Given the description of an element on the screen output the (x, y) to click on. 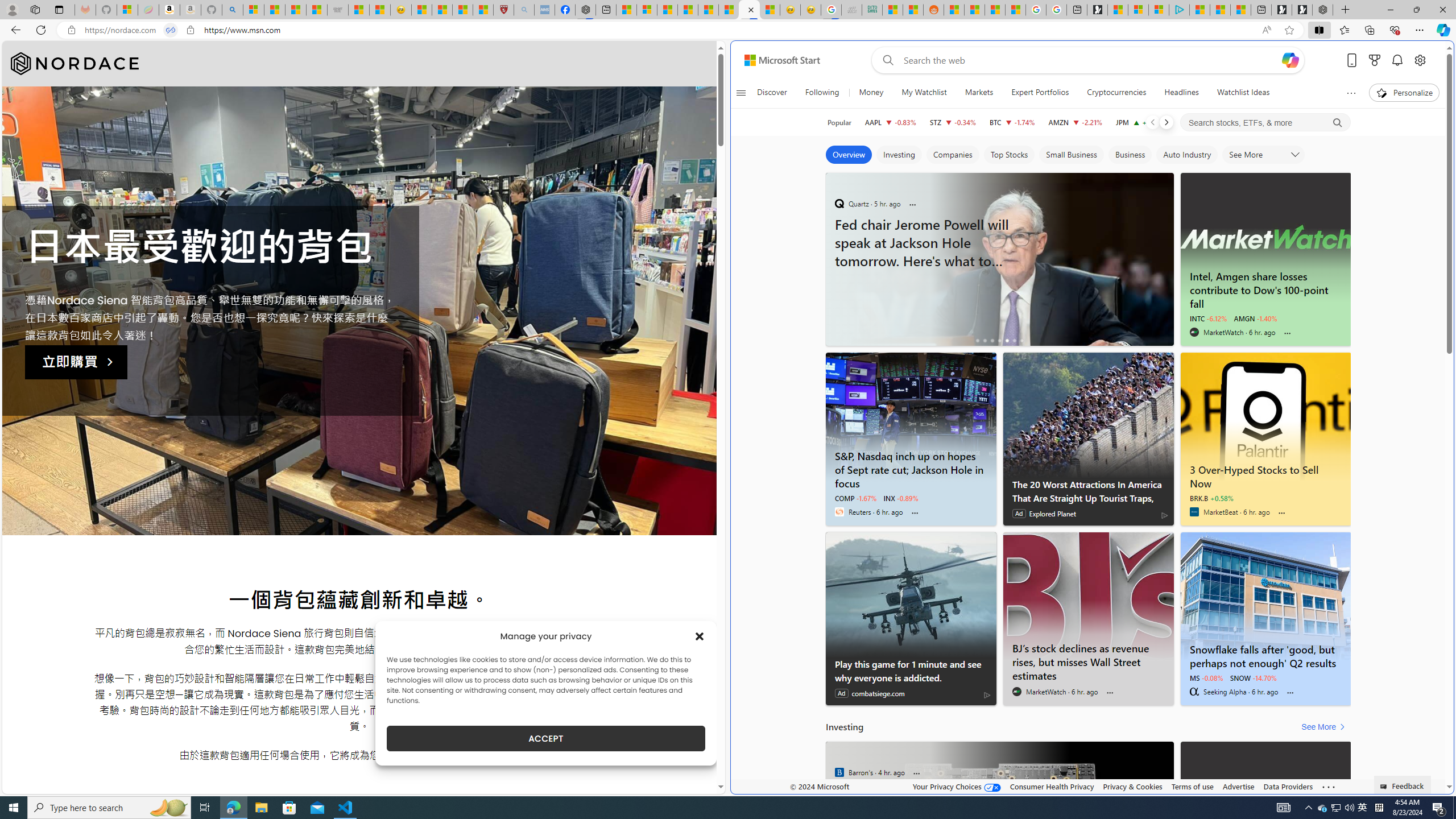
JPM JPMORGAN CHASE & CO. increase 216.71 +2.11 +0.98% (1140, 122)
Companies (952, 154)
Markets (977, 92)
Reuters (839, 511)
Class: cmplz-close (699, 636)
Data Providers (1288, 785)
